Given the description of an element on the screen output the (x, y) to click on. 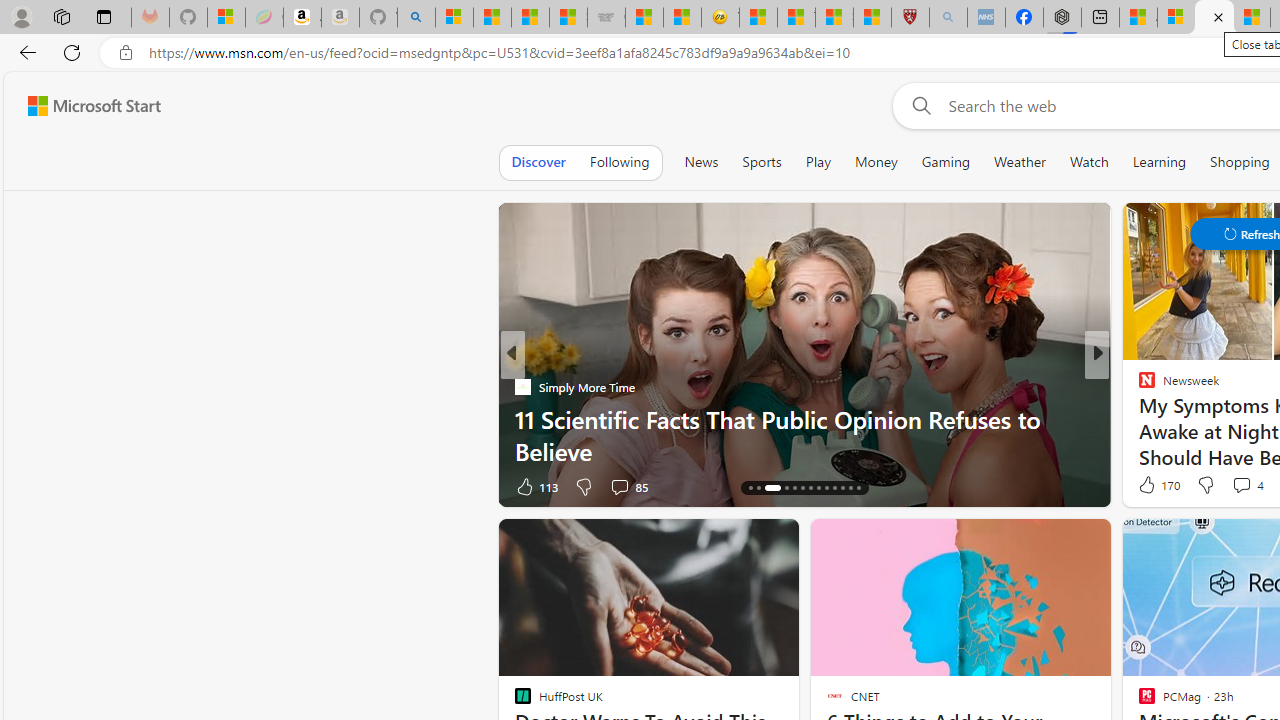
Simply More Time (522, 386)
Pocket-lint (1138, 418)
Newsweek (1138, 386)
View comments 42 Comment (1244, 486)
AutomationID: tab-18 (793, 487)
View comments 4 Comment (1241, 485)
Learning (1159, 162)
14 Common Myths Debunked By Scientific Facts (1251, 17)
AutomationID: tab-19 (801, 487)
AutomationID: tab-24 (842, 487)
AutomationID: tab-25 (850, 487)
